Given the description of an element on the screen output the (x, y) to click on. 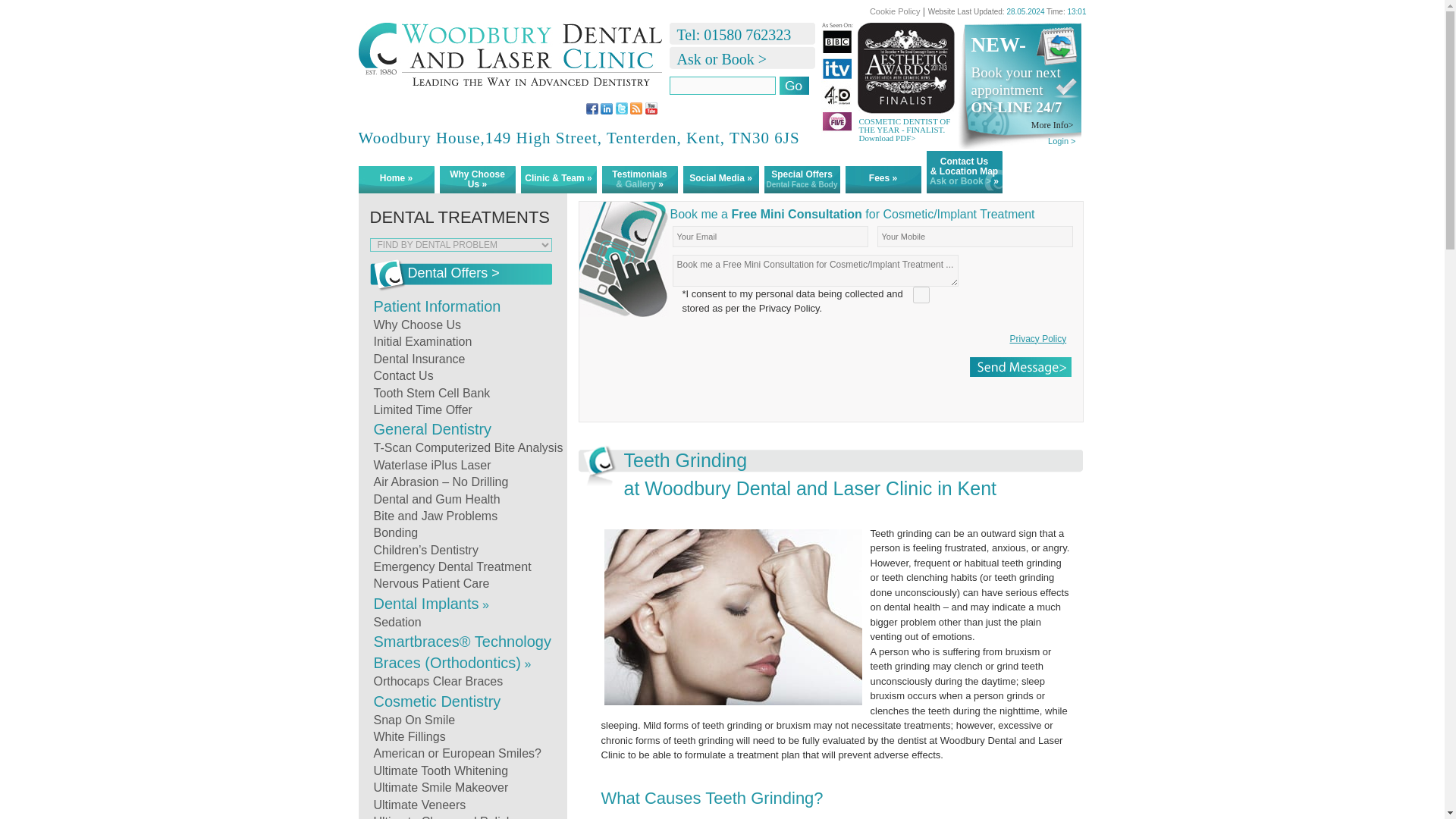
Teeth Grinding - Woodbury Clinic (509, 62)
teeth-grinding (731, 617)
Send (1019, 365)
NEW- (1025, 44)
Teeth Grinding - Woodbury Clinic (509, 62)
Search (793, 85)
Tel: 01580 762323 (729, 34)
Search (793, 85)
Cookie Policy (896, 10)
